Given the description of an element on the screen output the (x, y) to click on. 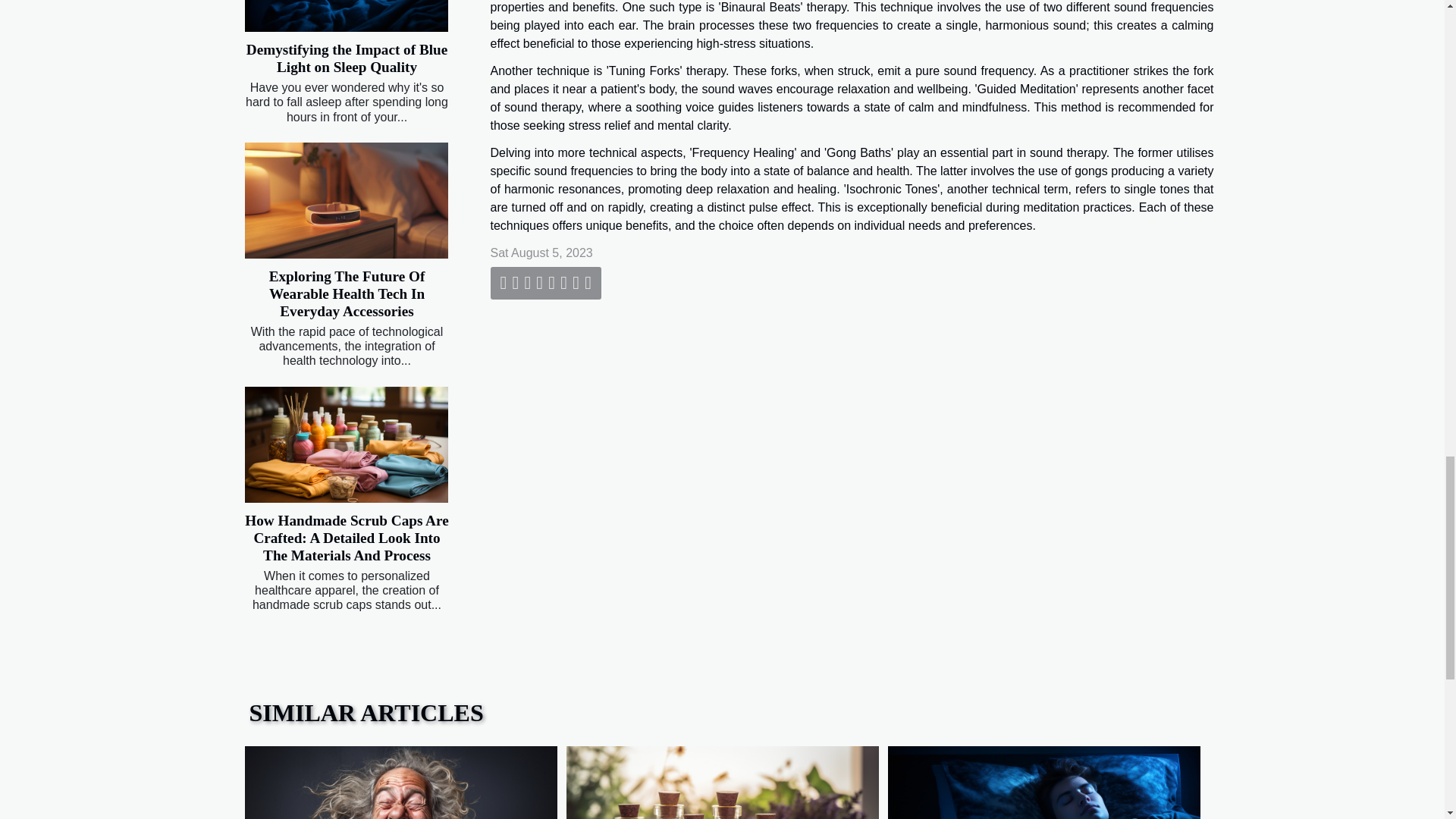
Demystifying the Impact of Blue Light on Sleep Quality (345, 15)
Demystifying the Impact of Blue Light on Sleep Quality (346, 58)
Demystifying the Impact of Blue Light on Sleep Quality (346, 58)
